Given the description of an element on the screen output the (x, y) to click on. 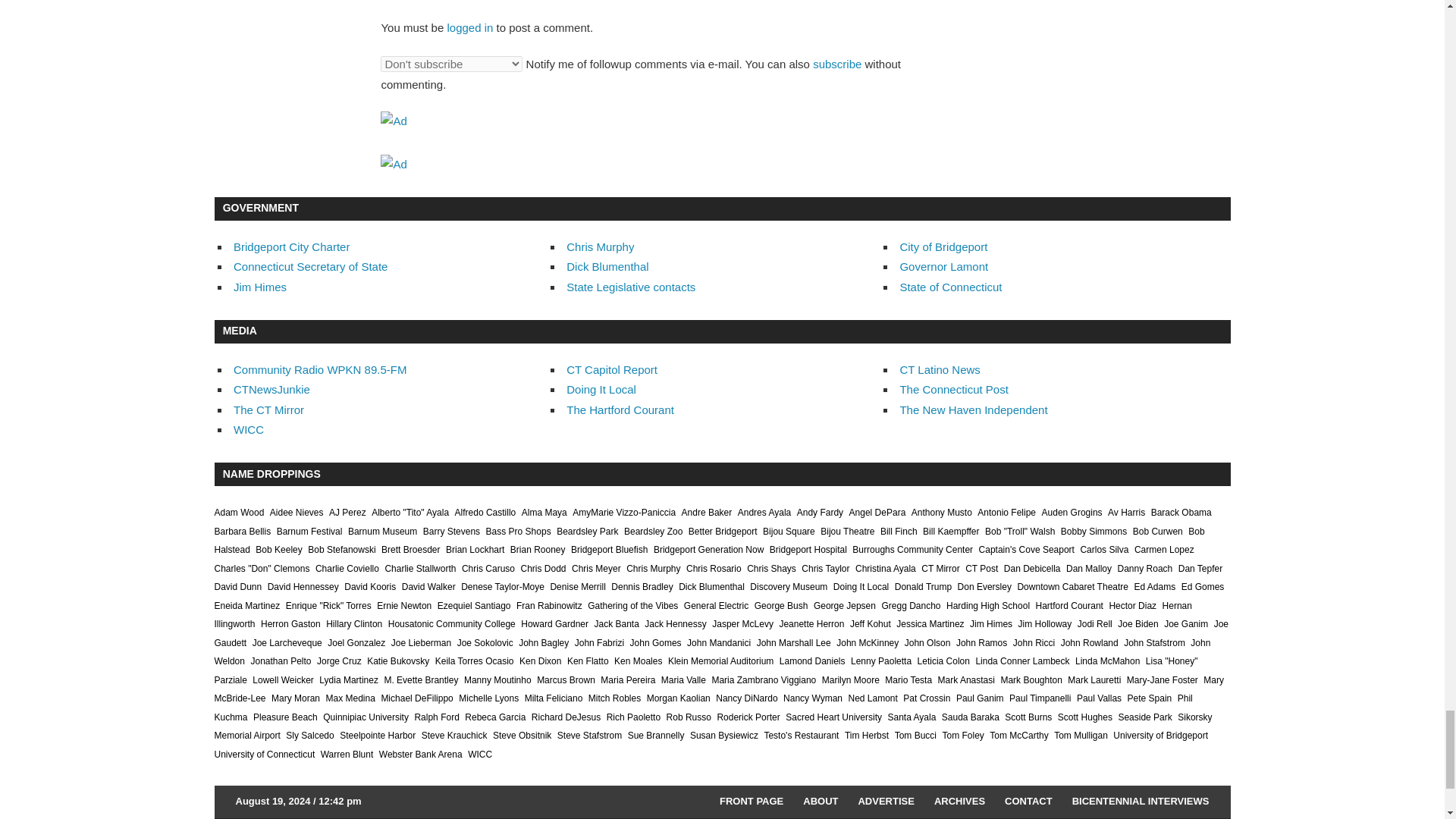
Contact your State Legislators (630, 286)
Because you need it. Bad. (271, 389)
The Hartford Courant (620, 409)
State of Connecticut (950, 286)
CT Capitol Report (612, 369)
The official Bridgeport website (943, 246)
The Connecticut Post Online (953, 389)
The New Haven Independent (972, 409)
Secretary of the State (309, 266)
